Given the description of an element on the screen output the (x, y) to click on. 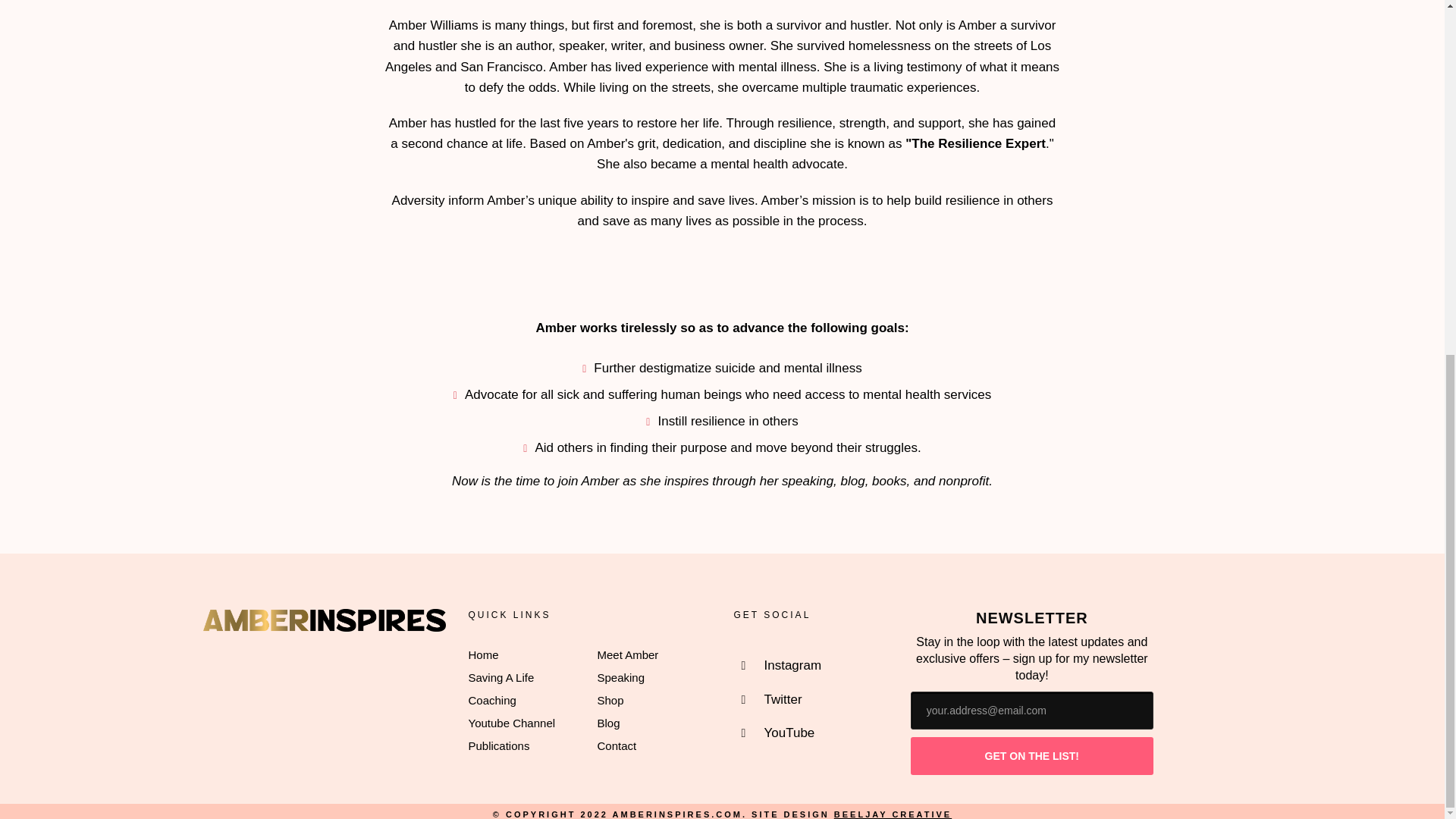
Saving A Life (501, 676)
Publications (498, 745)
Contact (616, 745)
Twitter (778, 699)
Home (483, 654)
Coaching (492, 699)
Shop (610, 699)
Speaking (620, 676)
Blog (608, 722)
Instagram (778, 666)
YouTube (778, 733)
Meet Amber (627, 654)
Youtube Channel (512, 722)
logo (324, 620)
